Given the description of an element on the screen output the (x, y) to click on. 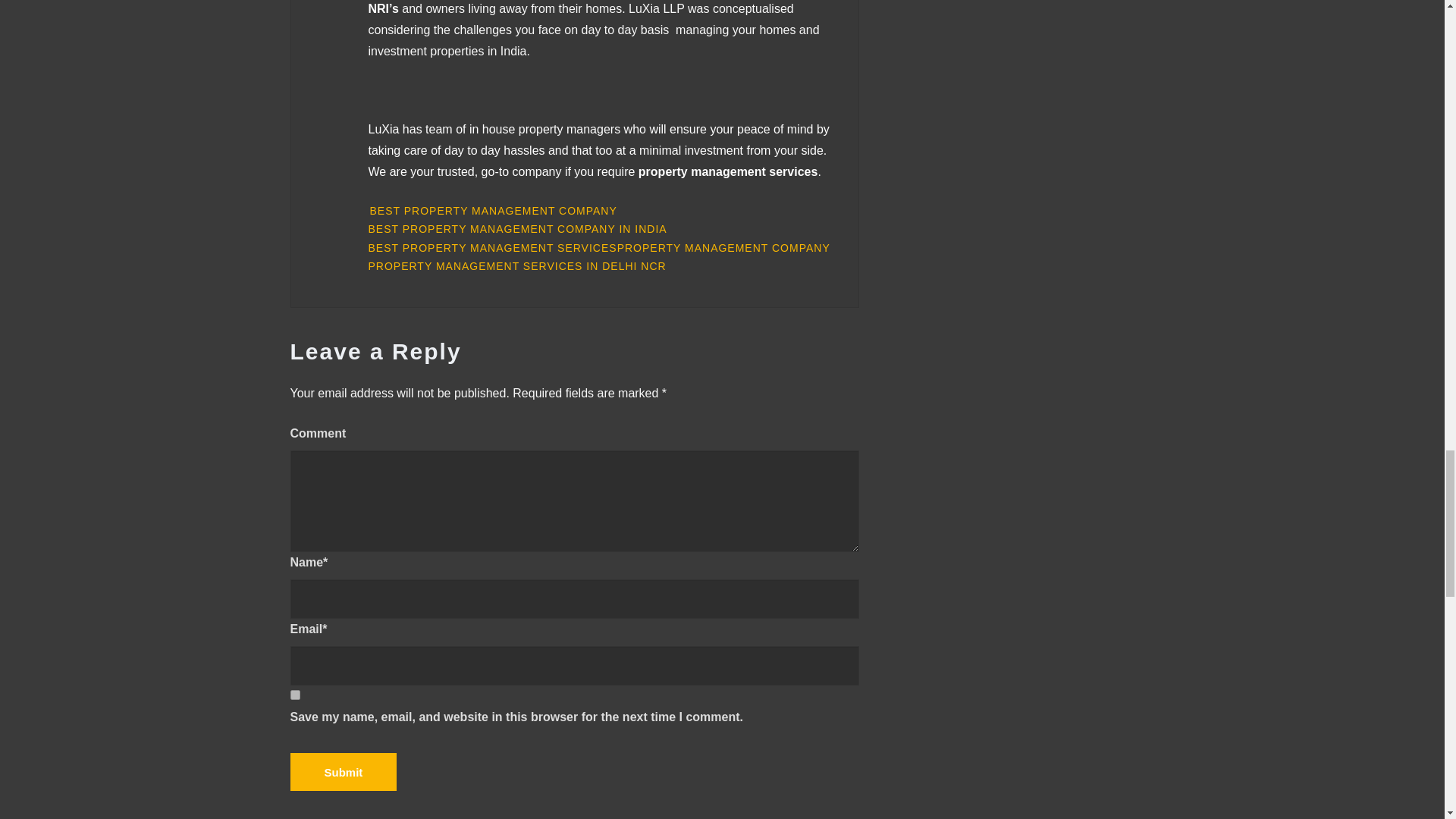
PROPERTY MANAGEMENT COMPANY (723, 248)
Submit (342, 771)
BEST PROPERTY MANAGEMENT SERVICES (492, 248)
Submit (342, 771)
BEST PROPERTY MANAGEMENT COMPANY IN INDIA (517, 229)
BEST PROPERTY MANAGEMENT COMPANY (493, 210)
yes (294, 695)
PROPERTY MANAGEMENT SERVICES IN DELHI NCR (517, 266)
